Given the description of an element on the screen output the (x, y) to click on. 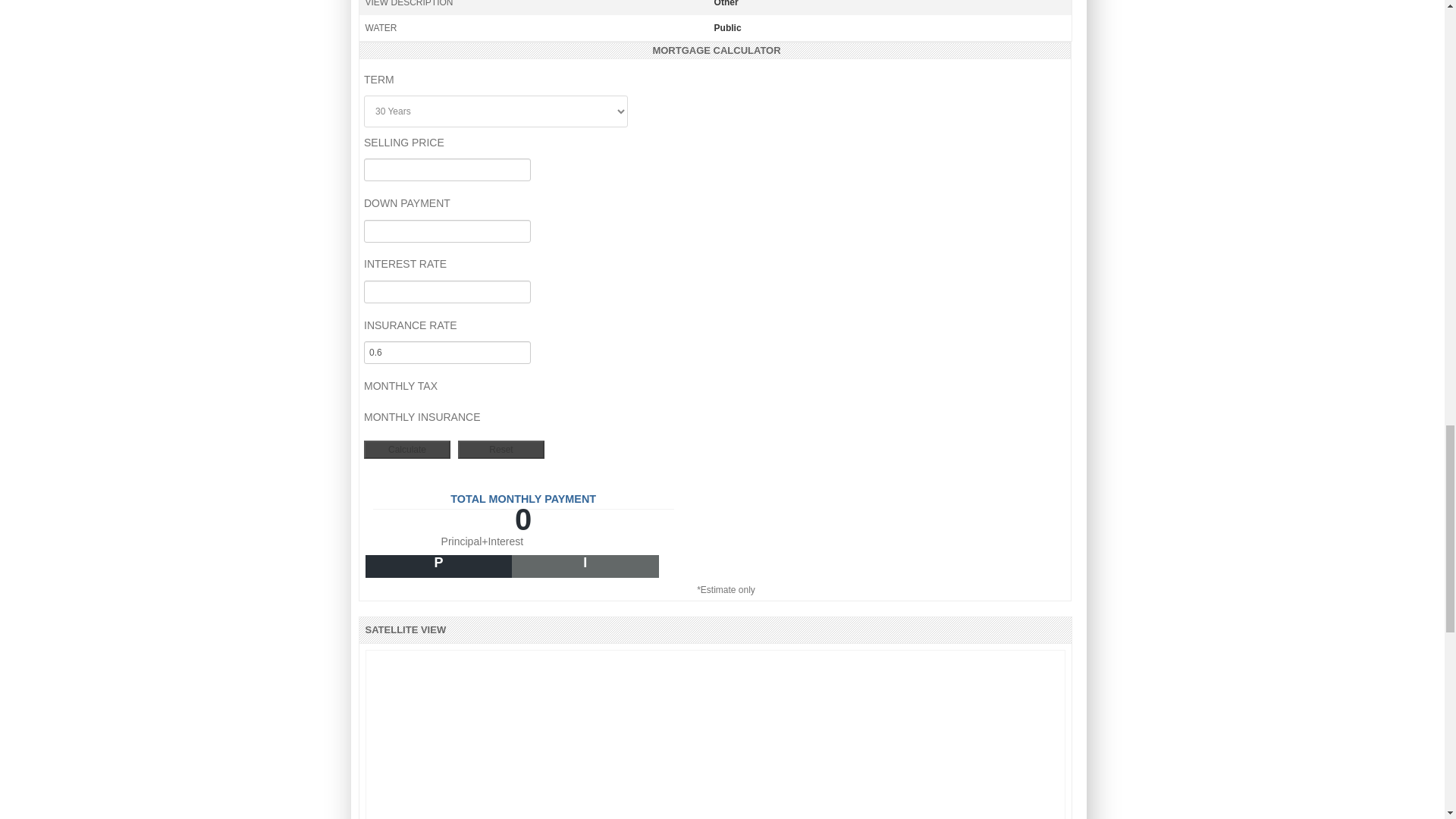
Reset (501, 449)
0.6 (447, 352)
Calculate (406, 449)
